Given the description of an element on the screen output the (x, y) to click on. 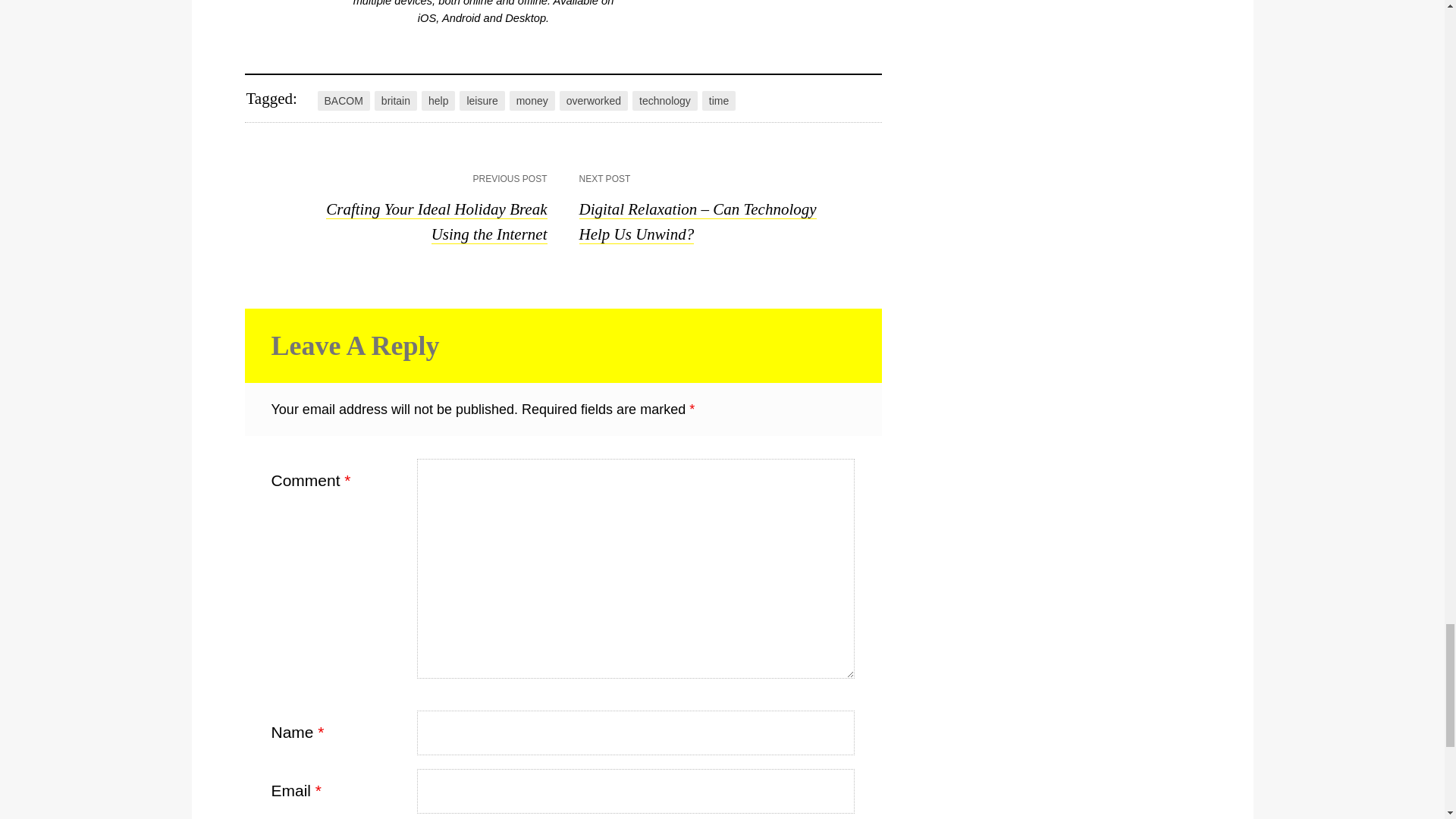
technology (664, 100)
help (438, 100)
money (531, 100)
time (718, 100)
overworked (593, 100)
leisure (481, 100)
Crafting Your Ideal Holiday Break Using the Internet (436, 221)
britain (395, 100)
BACOM (343, 100)
